Given the description of an element on the screen output the (x, y) to click on. 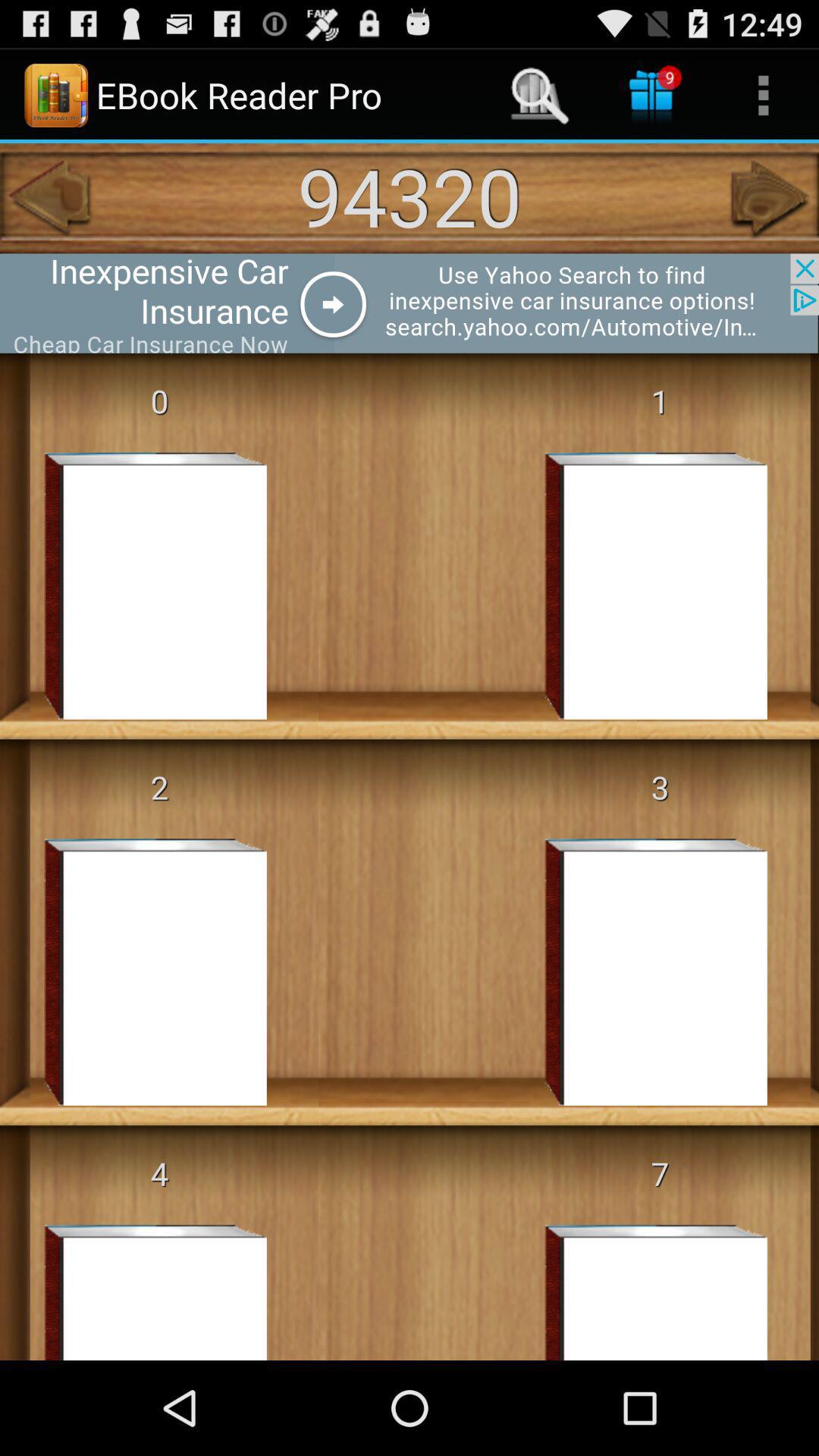
choose the 94320 icon (409, 196)
